Given the description of an element on the screen output the (x, y) to click on. 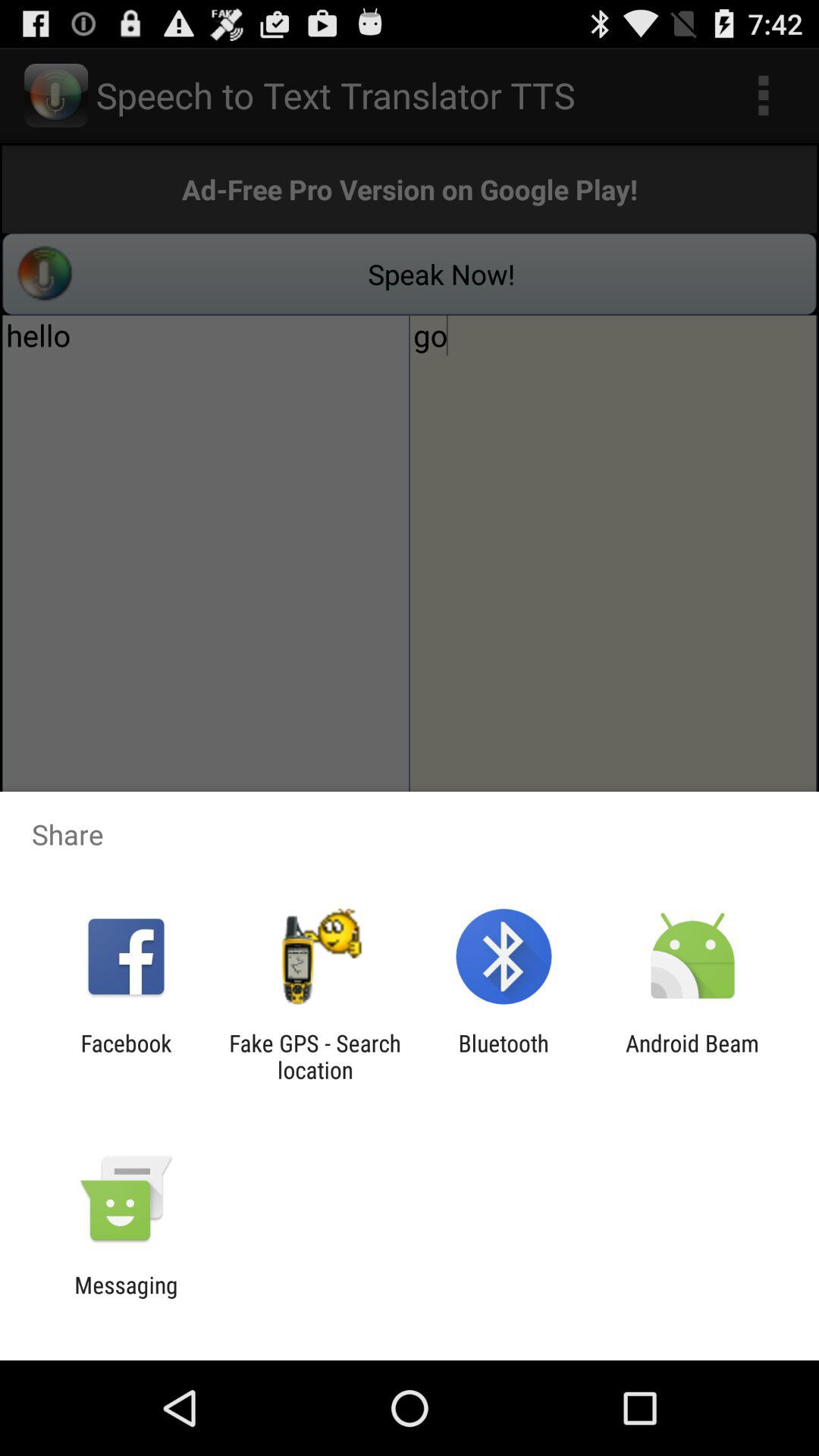
turn off the item next to the facebook icon (314, 1056)
